Given the description of an element on the screen output the (x, y) to click on. 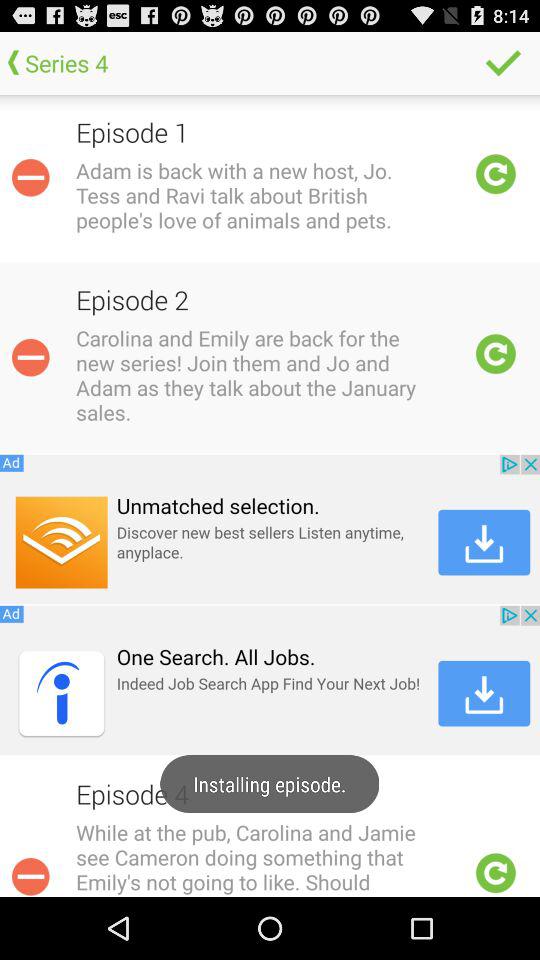
remove (30, 357)
